Given the description of an element on the screen output the (x, y) to click on. 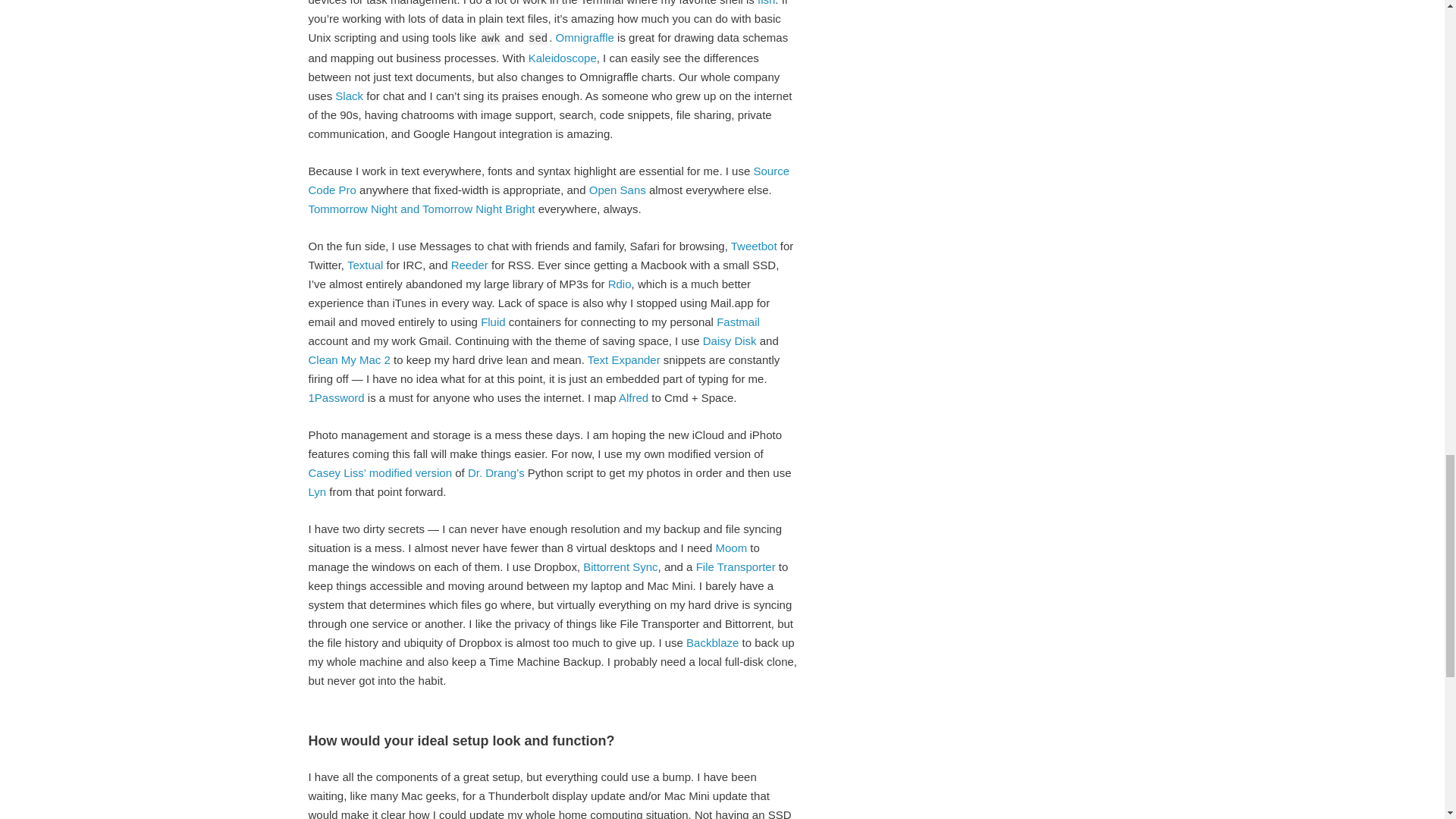
Reeder (469, 264)
Slack (348, 95)
Rdio (619, 283)
Textual (365, 264)
Omnigraffle (585, 36)
Kaleidoscope (562, 57)
Source Code Pro (548, 179)
Tweetbot (753, 245)
fish (765, 2)
Tommorrow Night and Tomorrow Night Bright (420, 207)
Open Sans (617, 189)
